Given the description of an element on the screen output the (x, y) to click on. 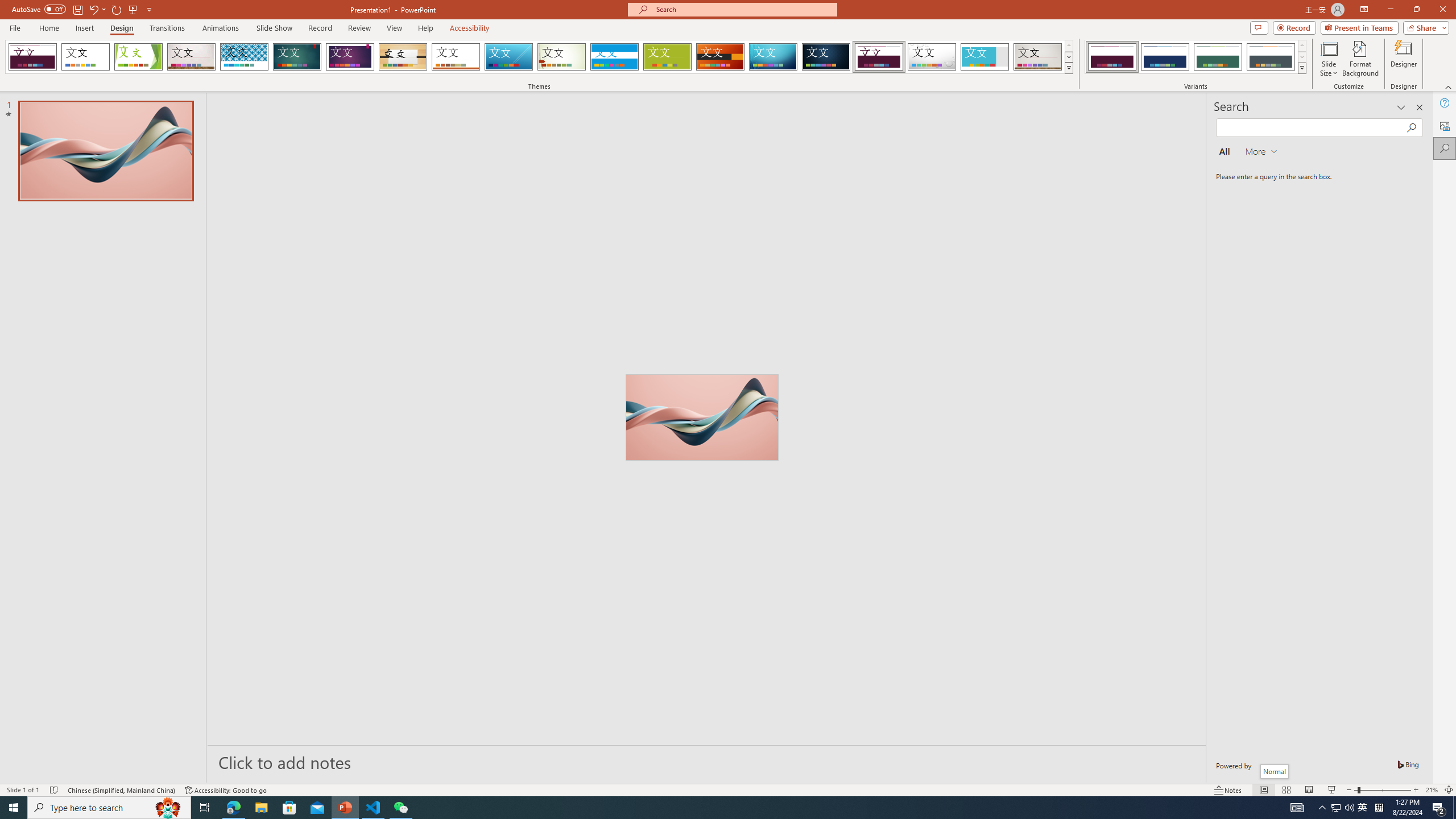
Banded (614, 56)
AutomationID: SlideThemesGallery (539, 56)
Wisp (561, 56)
Droplet (931, 56)
